Given the description of an element on the screen output the (x, y) to click on. 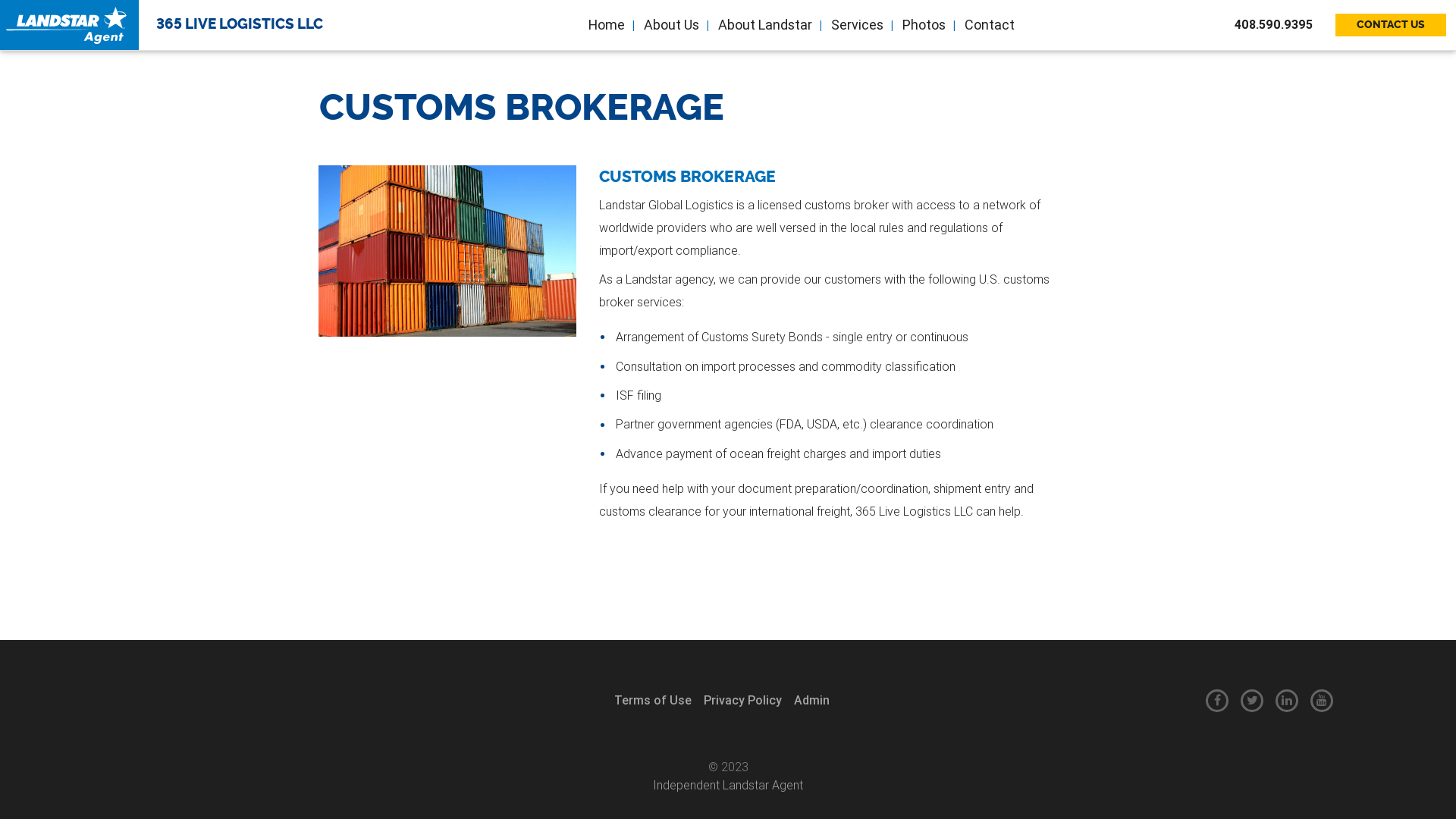
Admin Element type: text (811, 700)
CONTACT US Element type: text (1390, 24)
About Us Element type: text (670, 24)
youtube Element type: text (1321, 700)
Terms of Use Element type: text (652, 700)
linkedin Element type: text (1286, 700)
About Landstar Element type: text (764, 24)
408.590.9395 Element type: text (1282, 24)
Contact Element type: text (988, 24)
twitter Element type: text (1251, 700)
Logo Element type: text (66, 24)
Services Element type: text (856, 24)
facebook Element type: text (1216, 700)
Photos Element type: text (922, 24)
Home Element type: text (605, 24)
Privacy Policy Element type: text (742, 700)
